Given the description of an element on the screen output the (x, y) to click on. 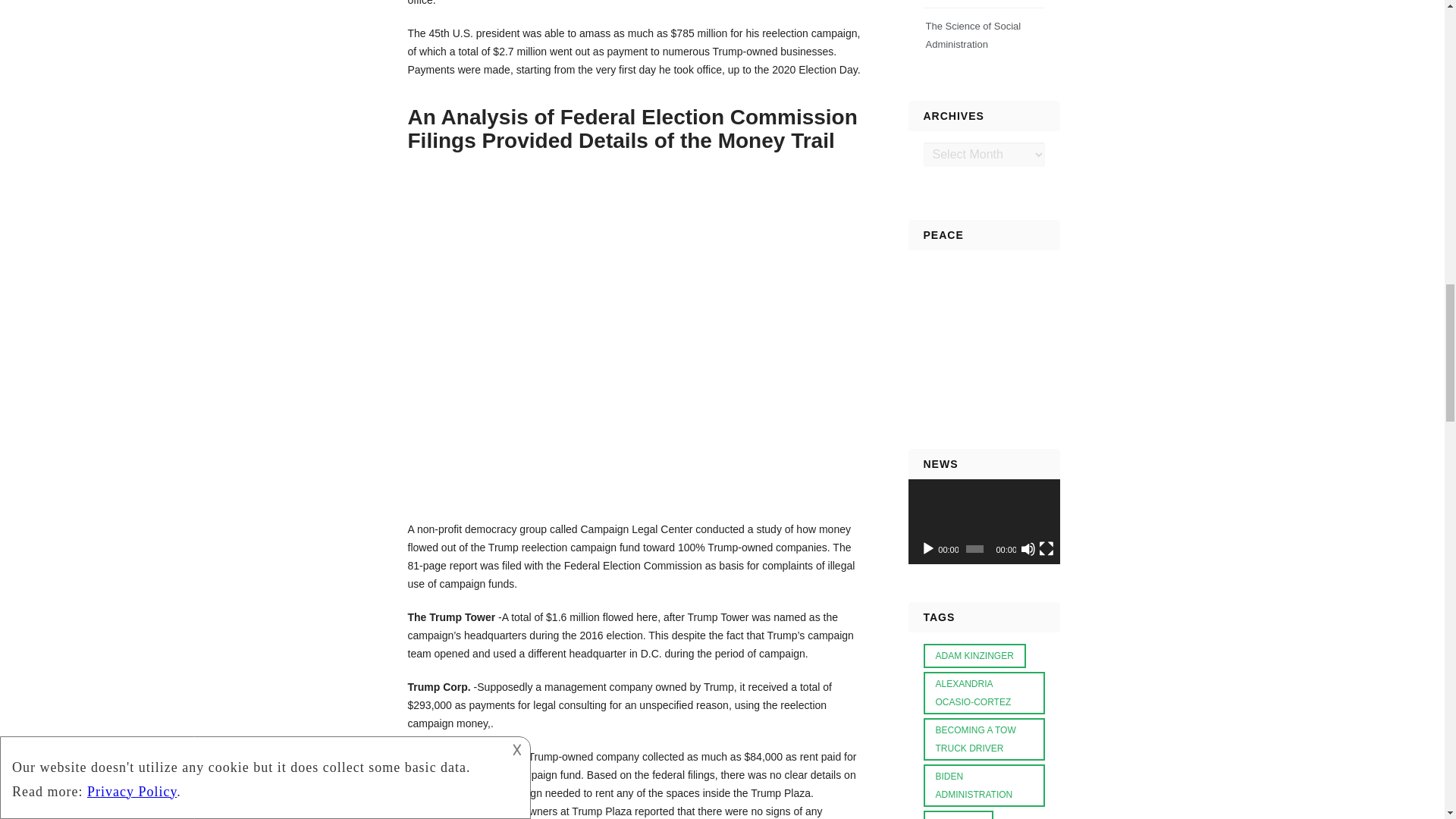
Mute (1027, 548)
Play (928, 548)
Fullscreen (1046, 548)
